Given the description of an element on the screen output the (x, y) to click on. 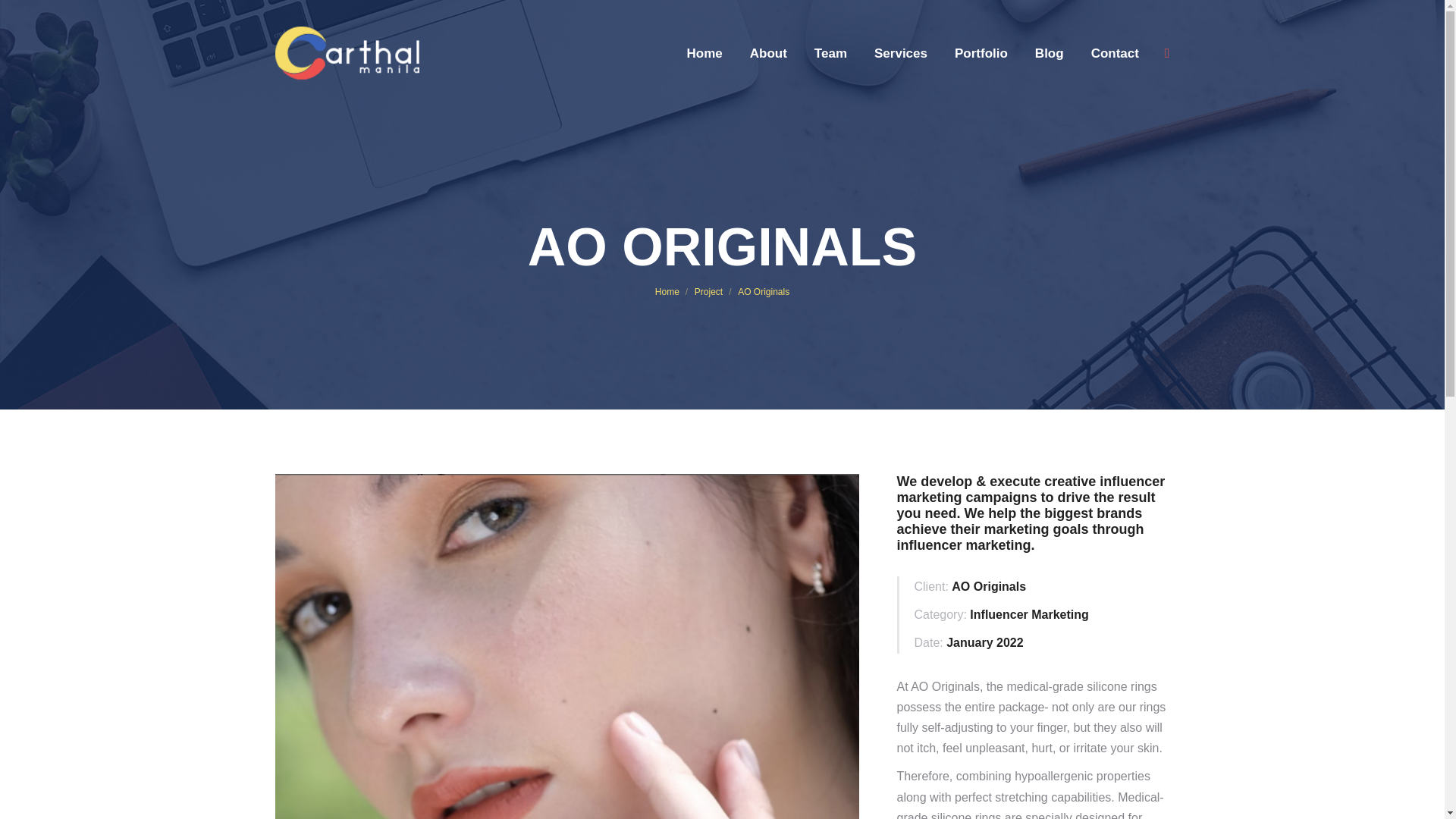
Services (900, 53)
Portfolio (981, 53)
Team (830, 53)
Project (708, 291)
Blog (1049, 53)
About (768, 53)
Contact (1114, 53)
Go! (27, 16)
Home (667, 291)
Home (704, 53)
